Given the description of an element on the screen output the (x, y) to click on. 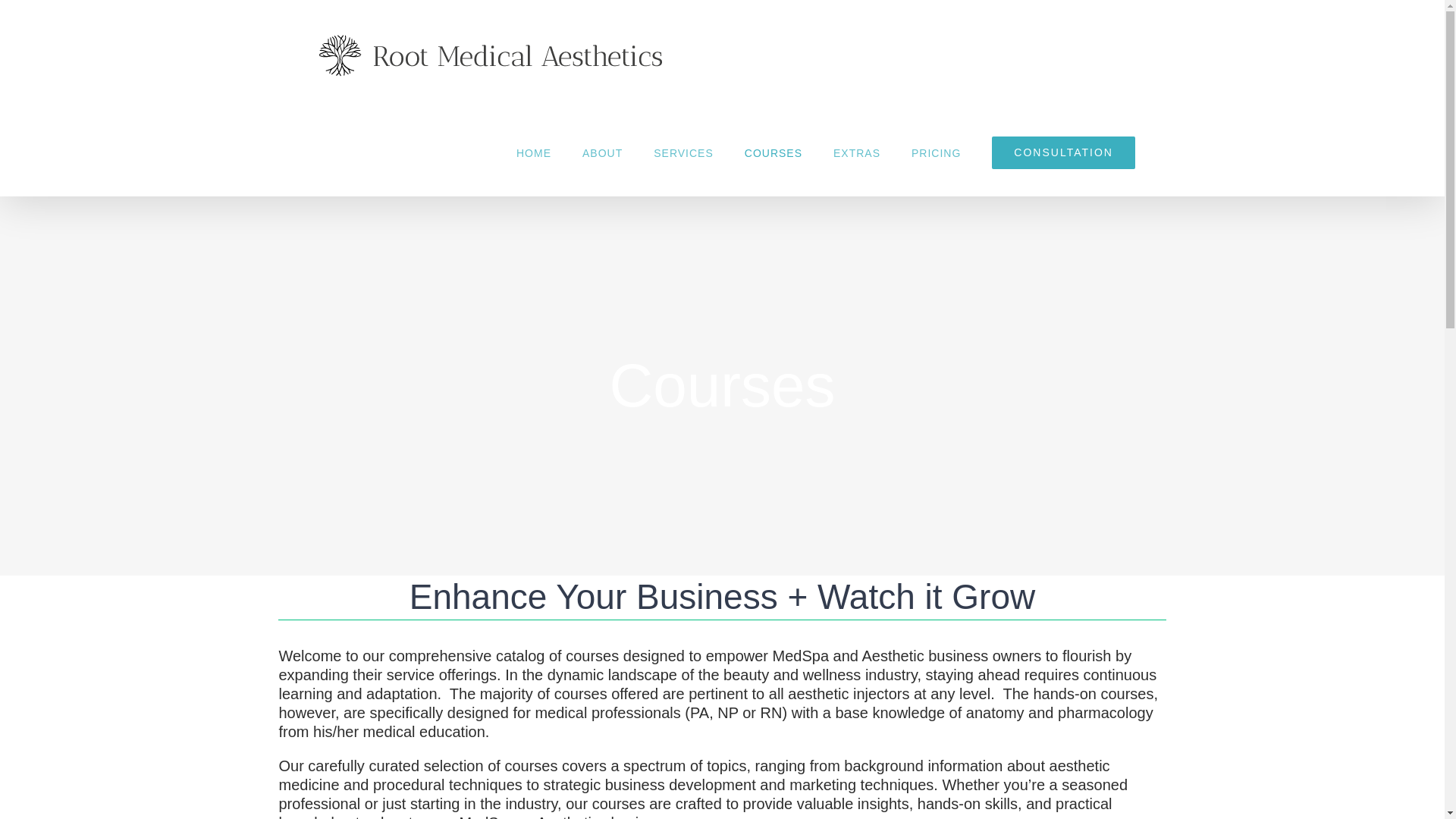
CONSULTATION (1063, 152)
